Given the description of an element on the screen output the (x, y) to click on. 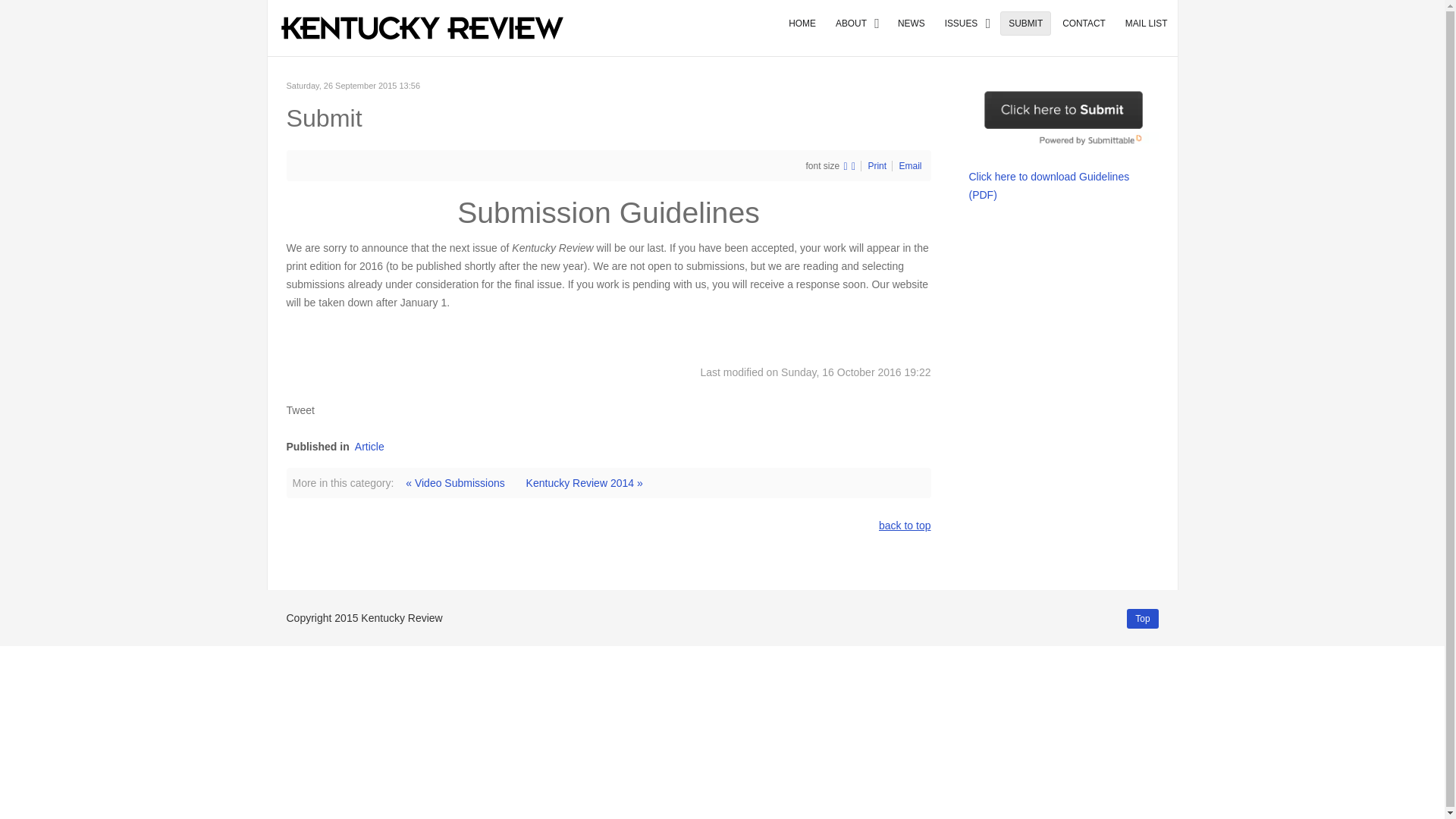
Email (909, 165)
ISSUES (967, 22)
SUBMIT (1024, 22)
Top (1141, 618)
CONTACT (1083, 22)
ABOUT (856, 22)
Article (369, 446)
HOME (801, 22)
NEWS (911, 22)
Print (876, 165)
